Given the description of an element on the screen output the (x, y) to click on. 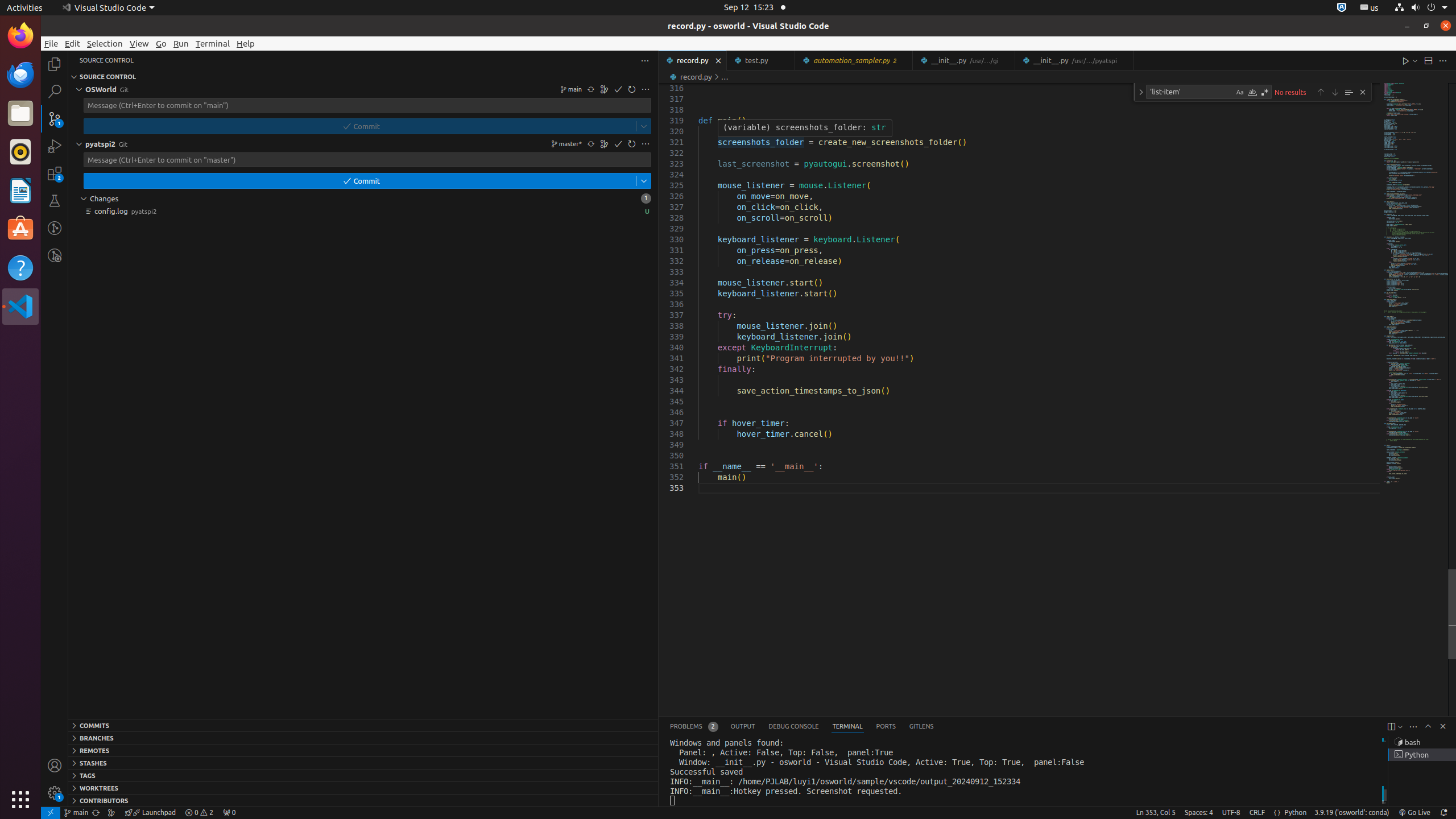
Maximize Panel Size Element type: check-box (1427, 726)
GitLens Element type: page-tab (921, 726)
config.log, Untracked, pyatspi2 Element type: tree-item (363, 210)
